Given the description of an element on the screen output the (x, y) to click on. 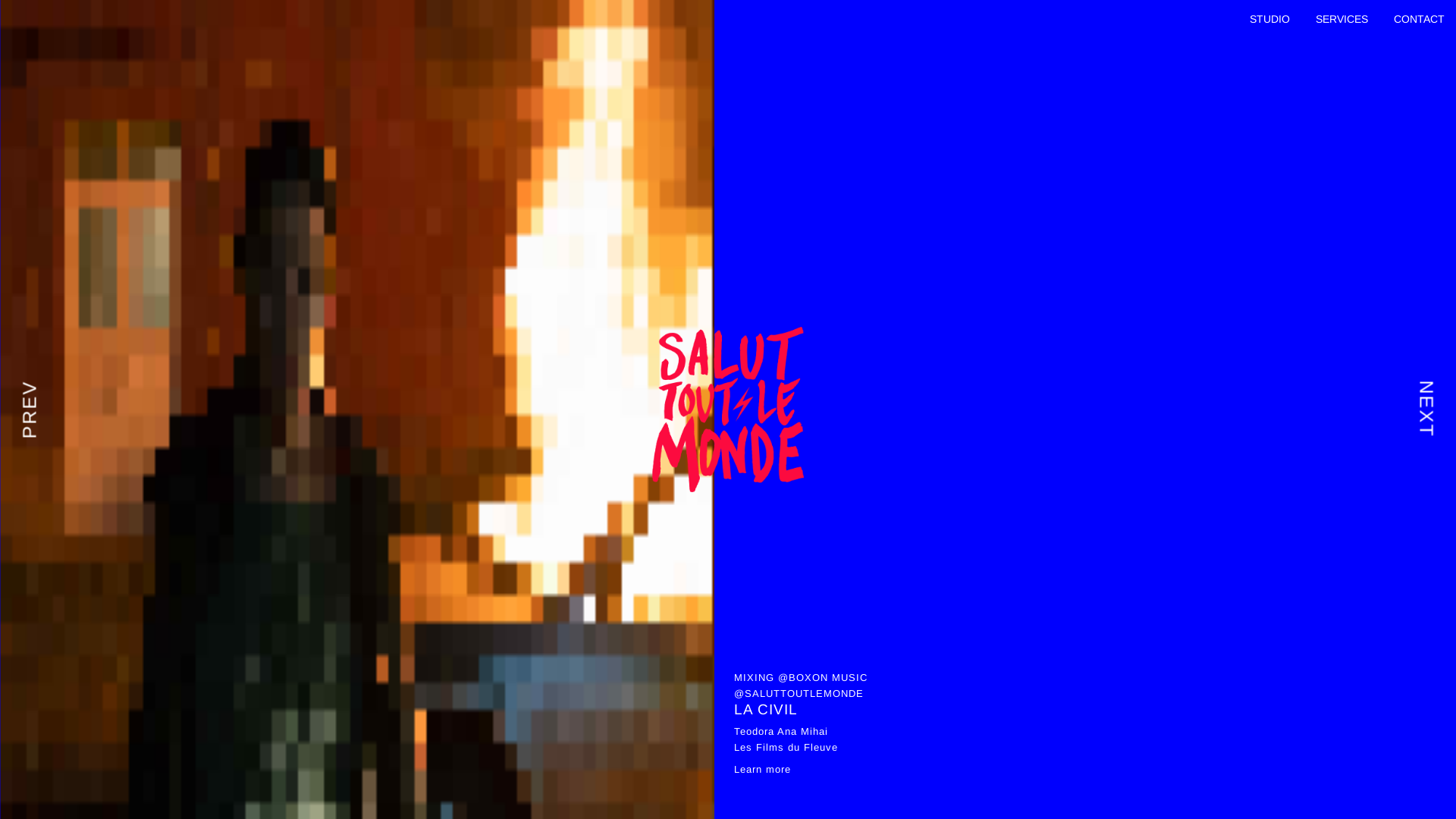
SERVICES Element type: text (1341, 19)
STUDIO Element type: text (1269, 19)
Learn more Element type: text (762, 769)
